Given the description of an element on the screen output the (x, y) to click on. 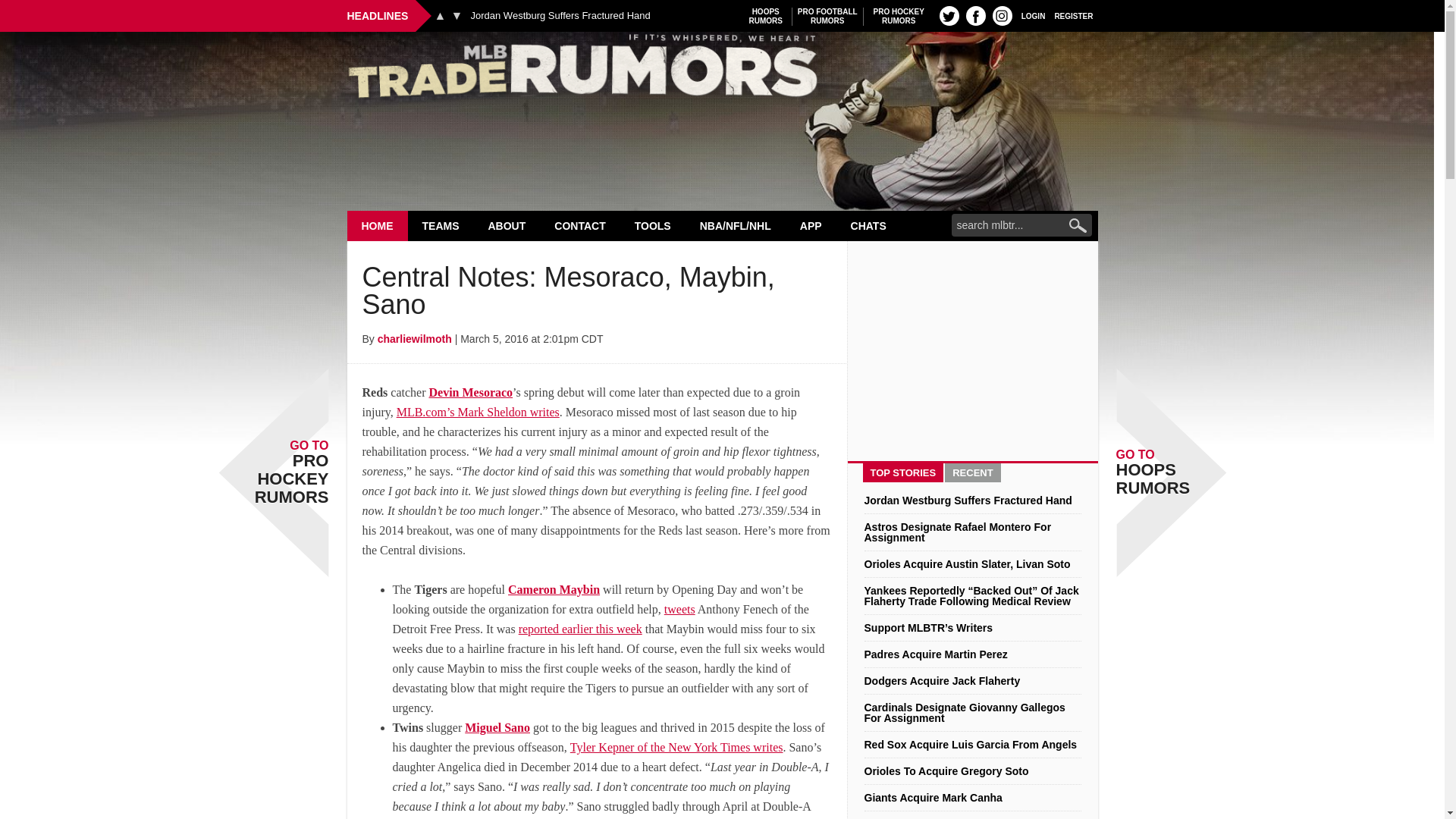
MLB Trade Rumors (722, 69)
Next (456, 15)
REGISTER (898, 16)
Twitter profile (827, 16)
Previous (1073, 15)
TEAMS (949, 15)
HOME (439, 15)
